Given the description of an element on the screen output the (x, y) to click on. 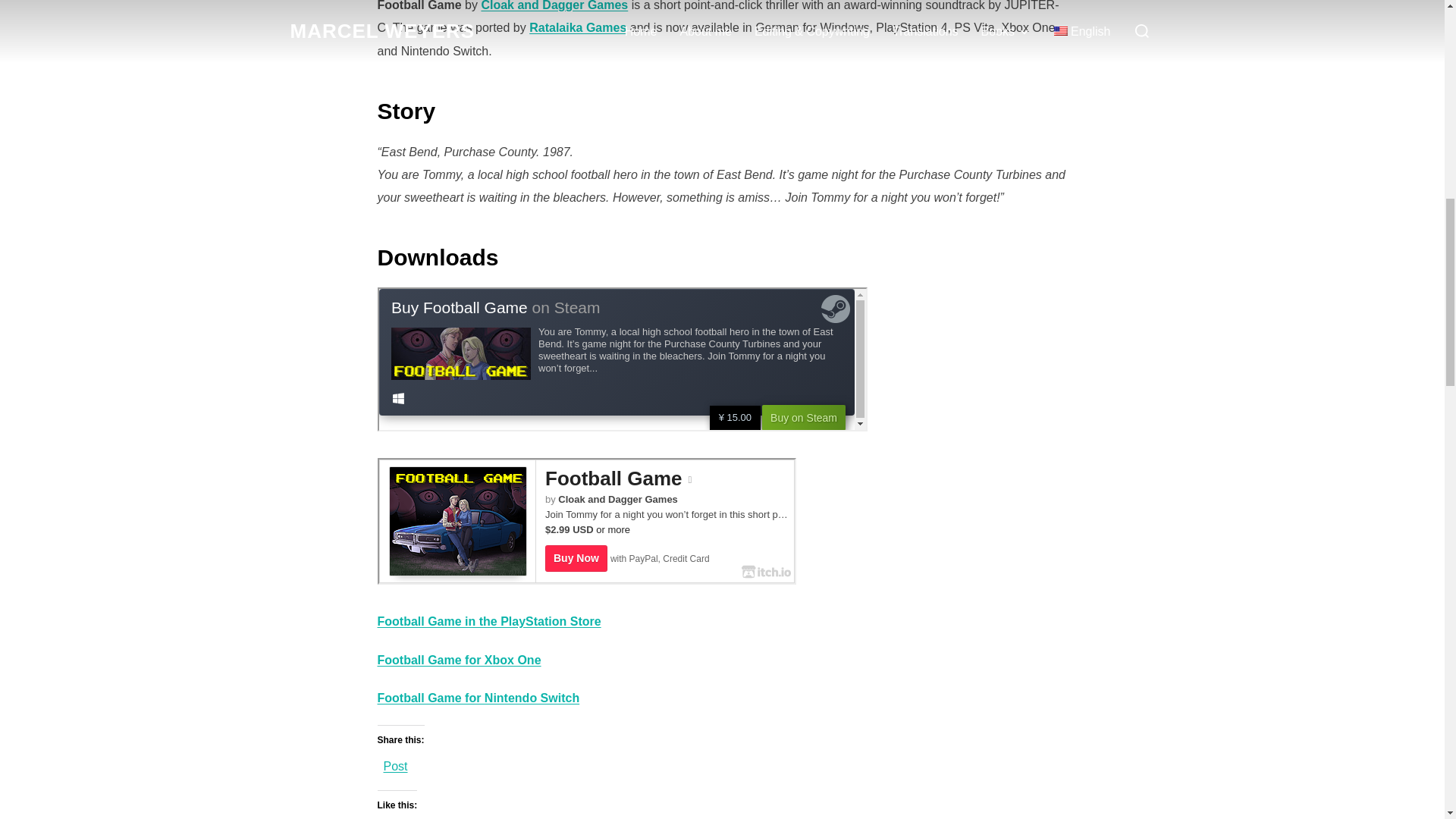
Cloak and Dagger Games (553, 5)
Football Game in the PlayStation Store (489, 621)
Football Game for Xbox One (459, 659)
Post (395, 762)
Ratalaika Games (577, 27)
Football Game for Nintendo Switch (478, 697)
